Given the description of an element on the screen output the (x, y) to click on. 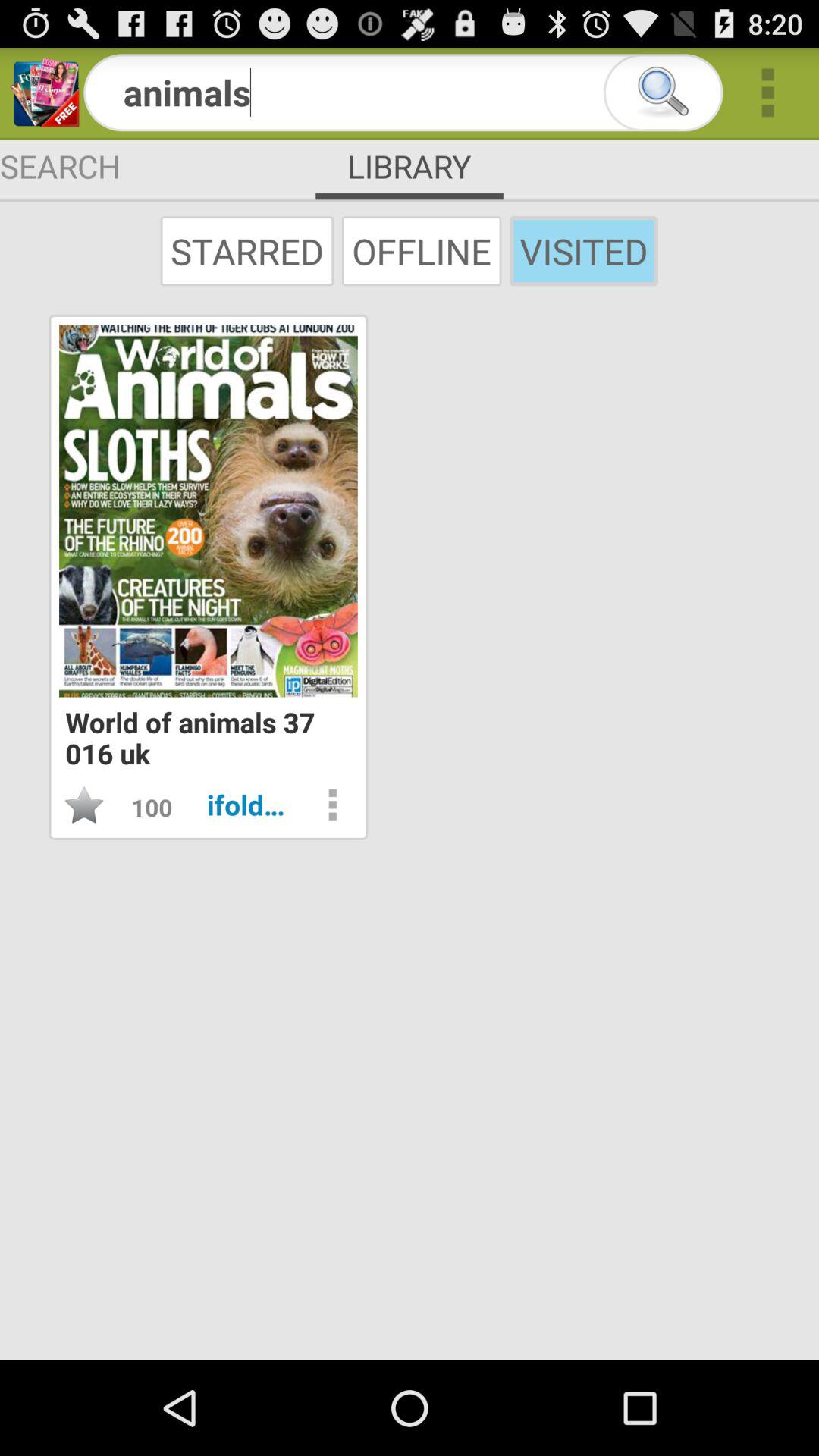
open more options (332, 804)
